Given the description of an element on the screen output the (x, y) to click on. 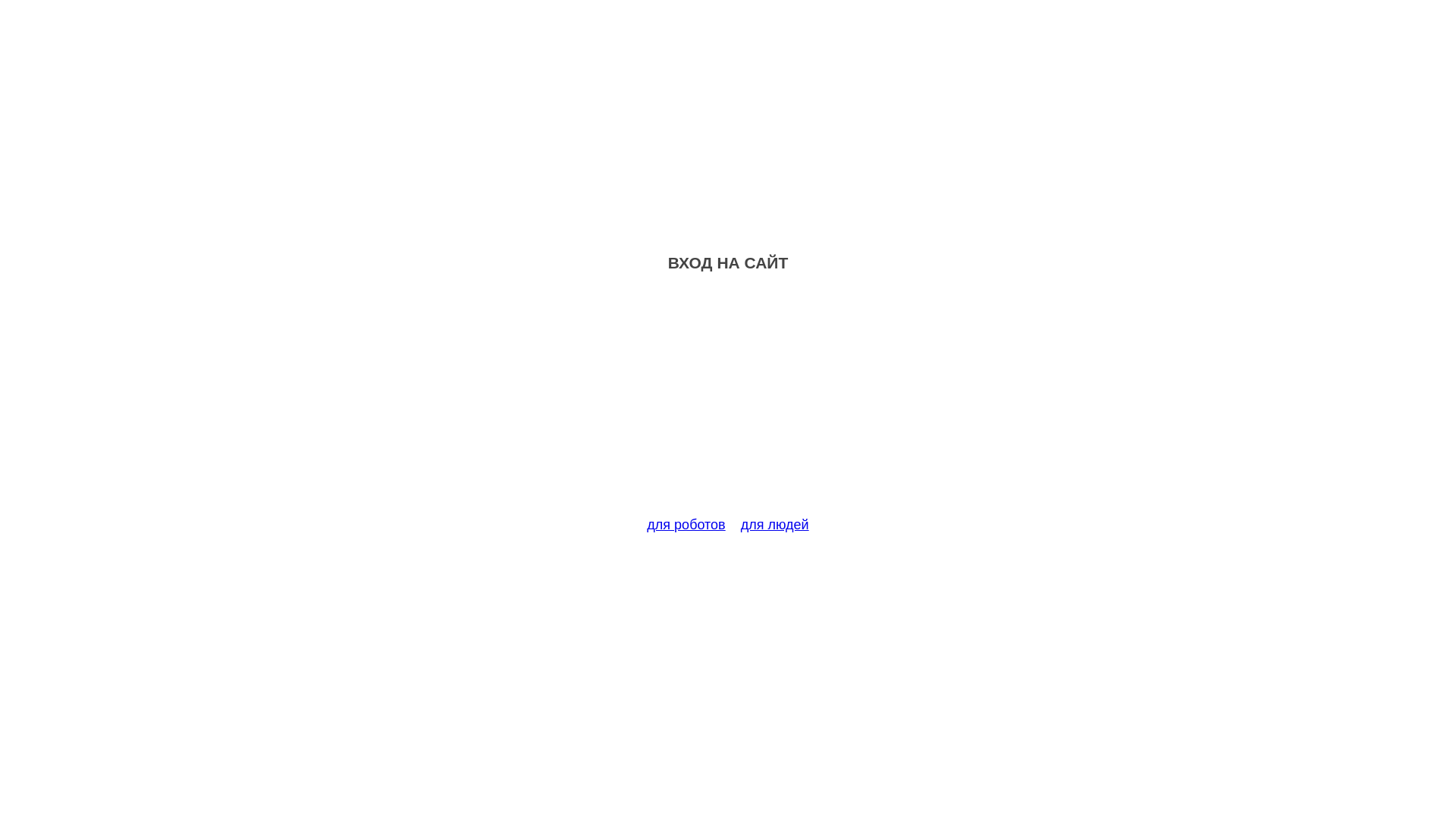
Advertisement Element type: hover (727, 403)
